Given the description of an element on the screen output the (x, y) to click on. 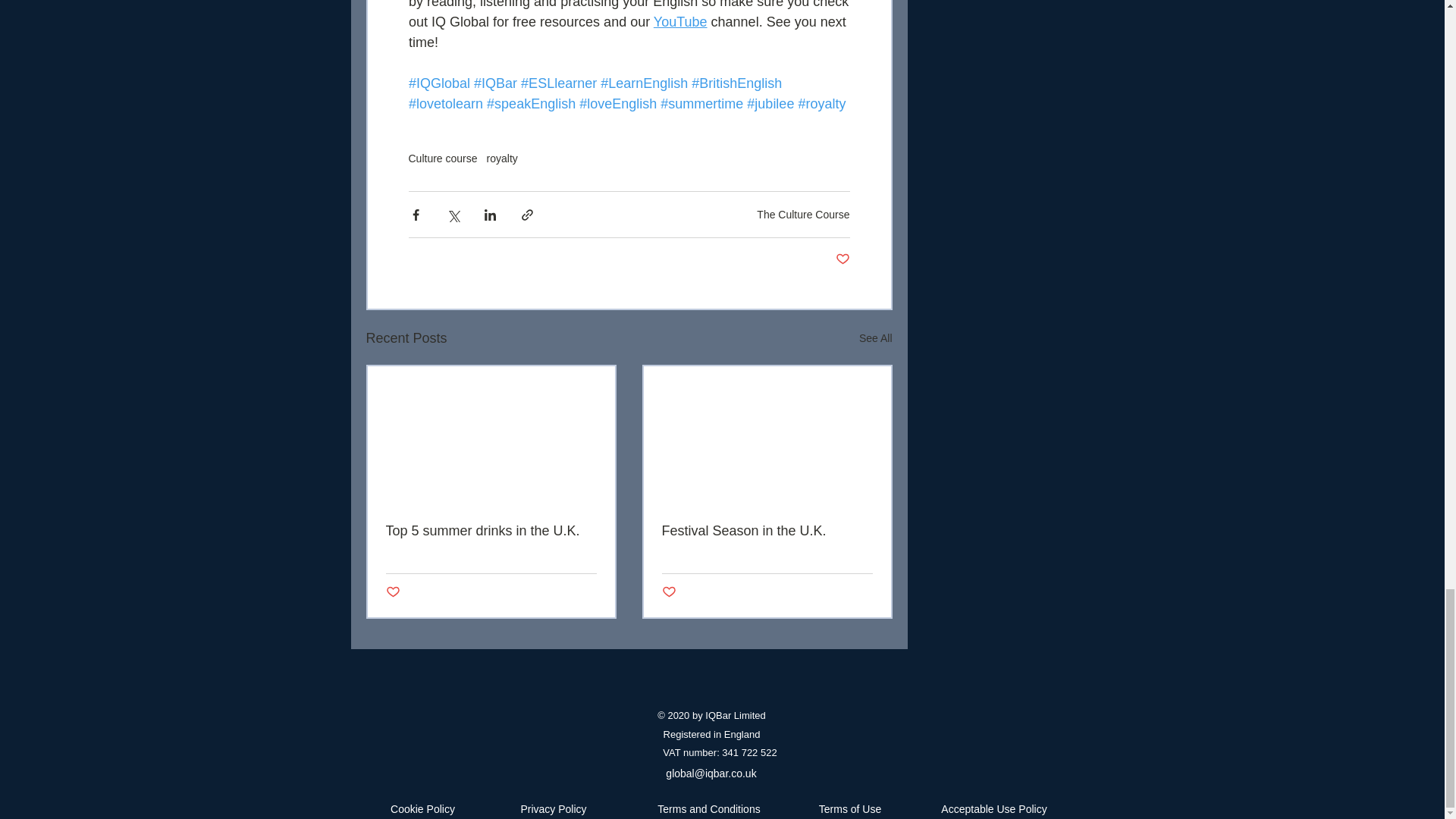
royalty (502, 158)
Festival Season in the U.K. (766, 530)
Top 5 summer drinks in the U.K. (490, 530)
YouTube (679, 21)
See All (875, 338)
The Culture Course (802, 214)
Post not marked as liked (668, 592)
Post not marked as liked (842, 259)
Post not marked as liked (391, 592)
Culture course (442, 158)
